Given the description of an element on the screen output the (x, y) to click on. 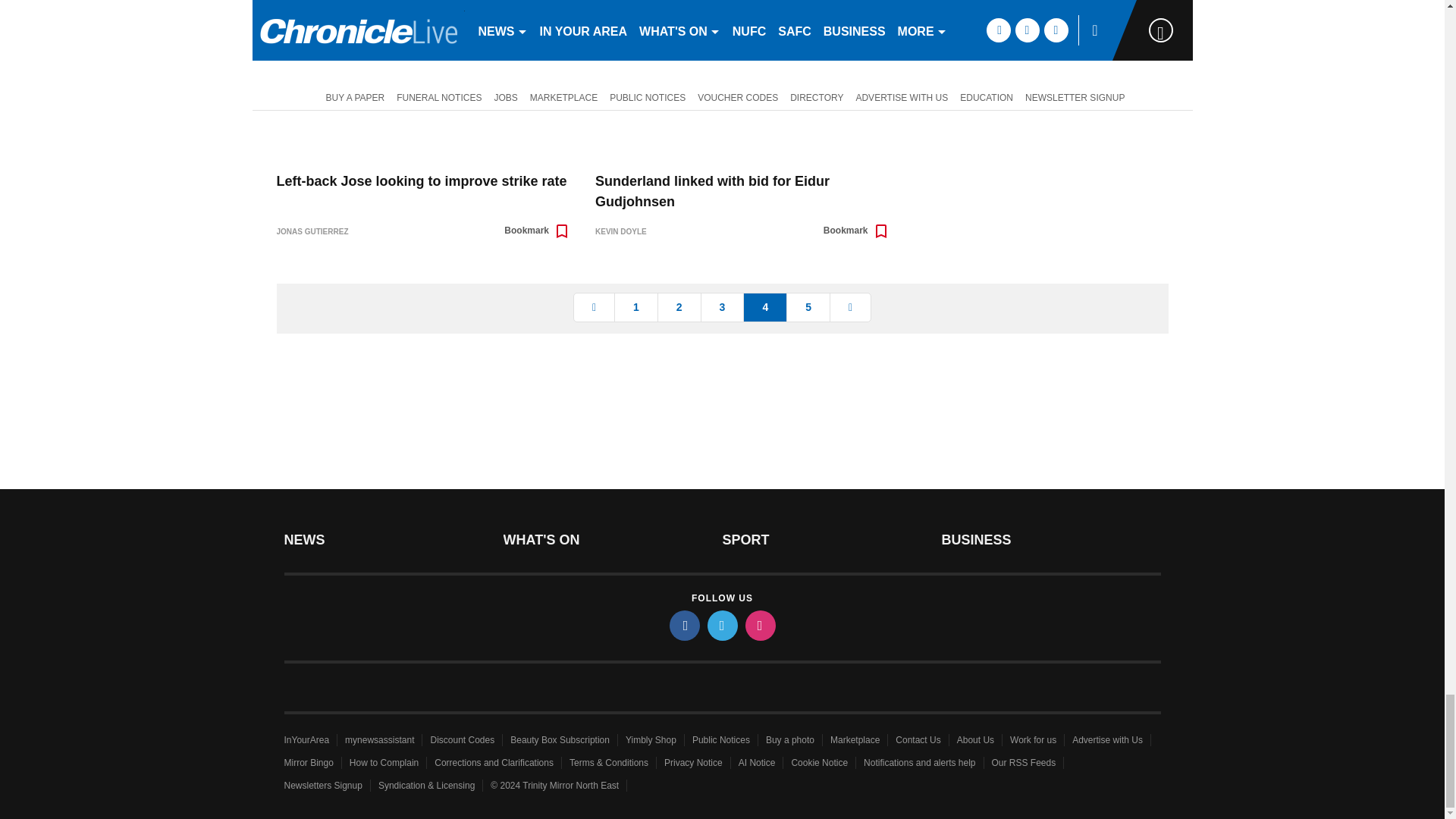
instagram (759, 625)
facebook (683, 625)
twitter (721, 625)
